Given the description of an element on the screen output the (x, y) to click on. 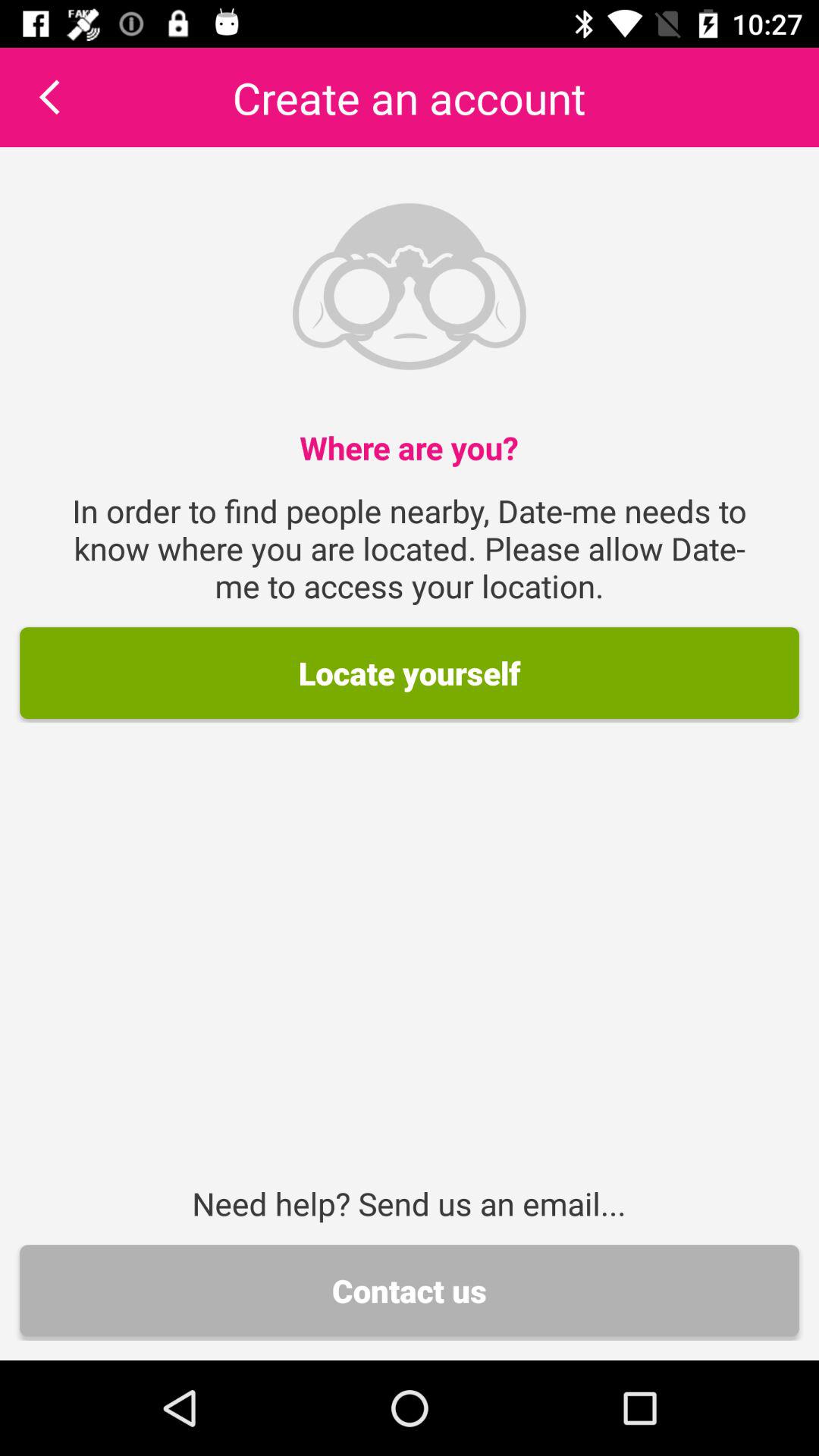
flip until contact us item (409, 1290)
